Given the description of an element on the screen output the (x, y) to click on. 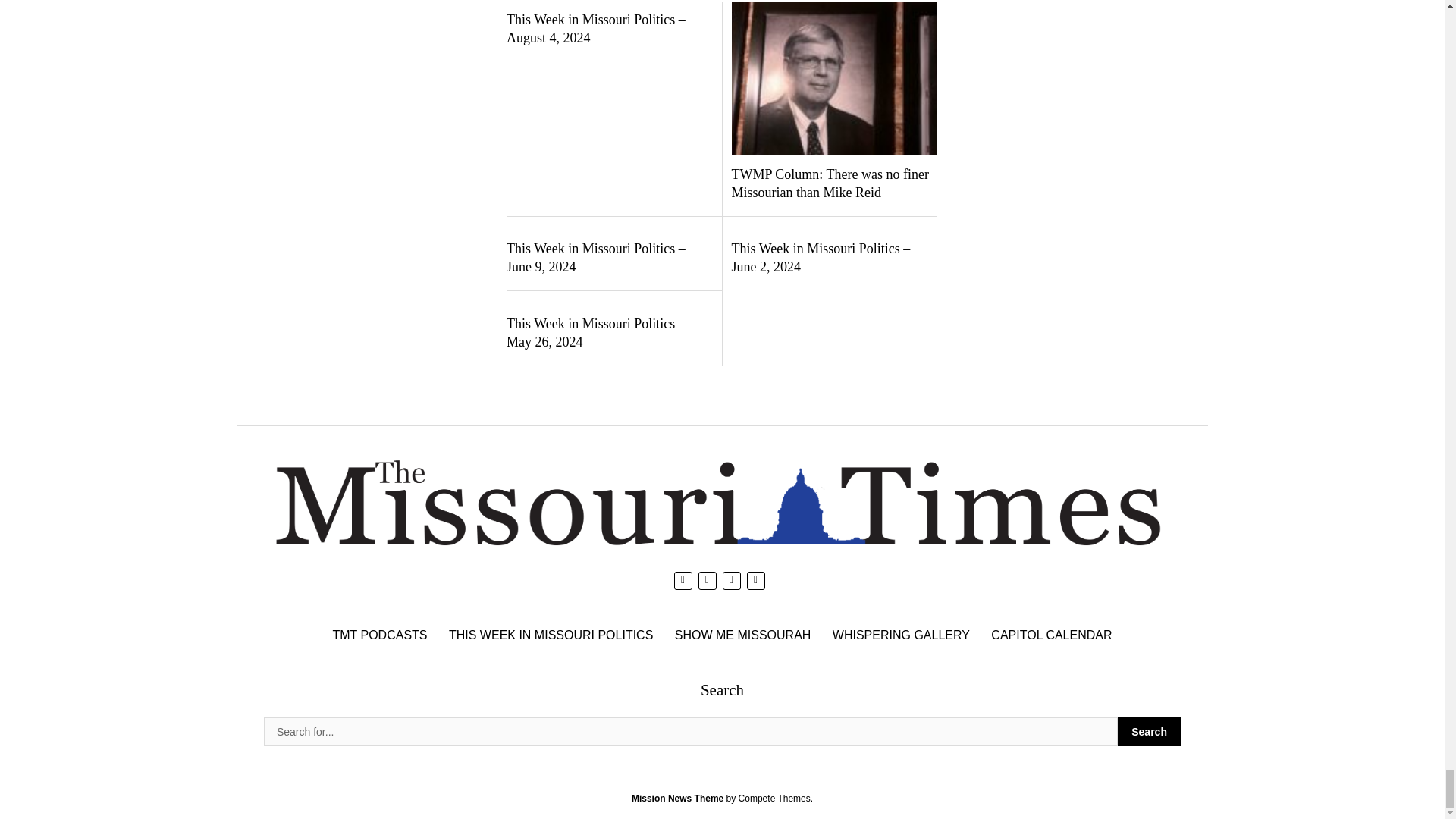
Search (690, 731)
Search (1149, 731)
Search (1149, 731)
